Given the description of an element on the screen output the (x, y) to click on. 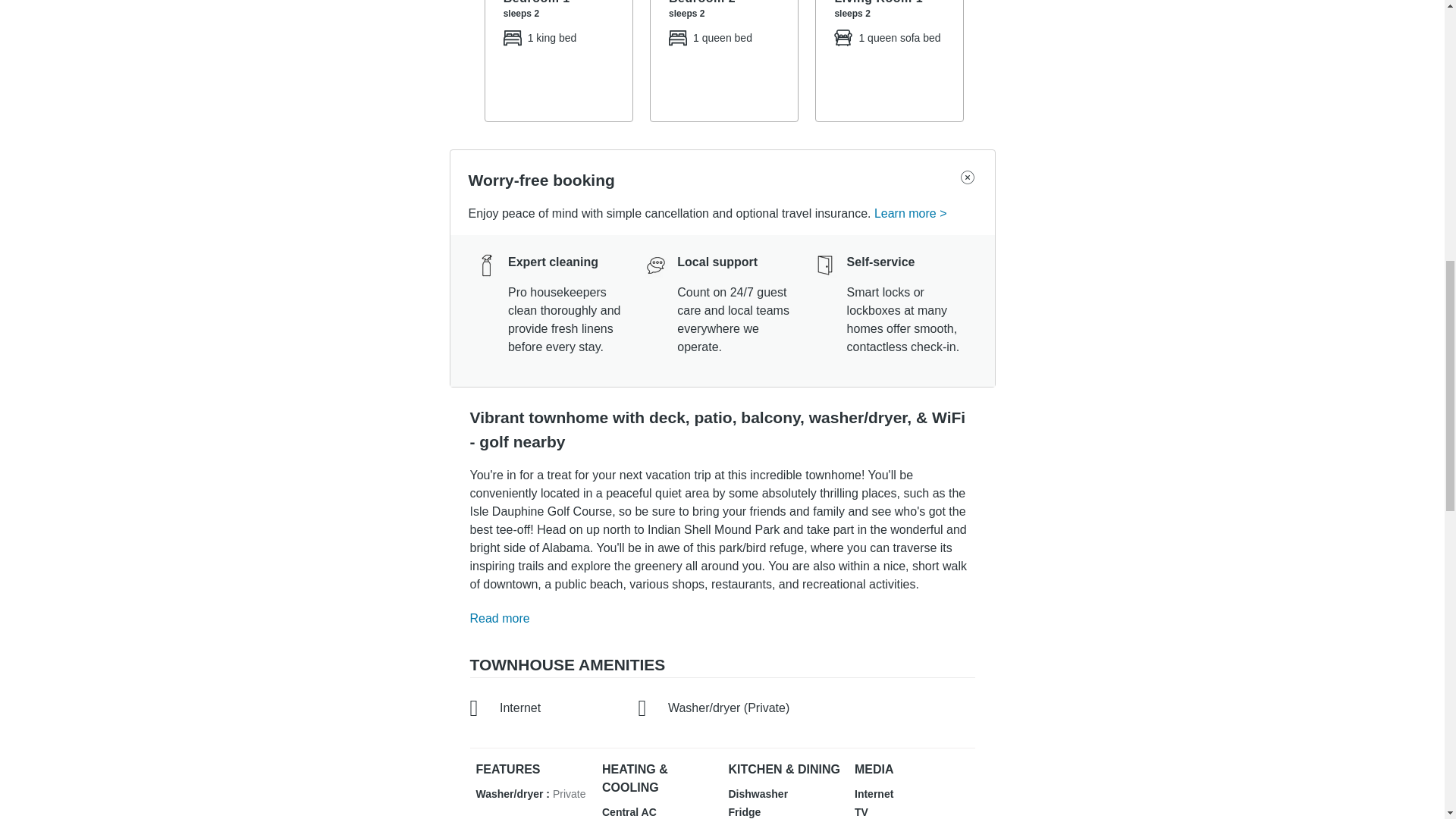
Read more  (504, 618)
